Given the description of an element on the screen output the (x, y) to click on. 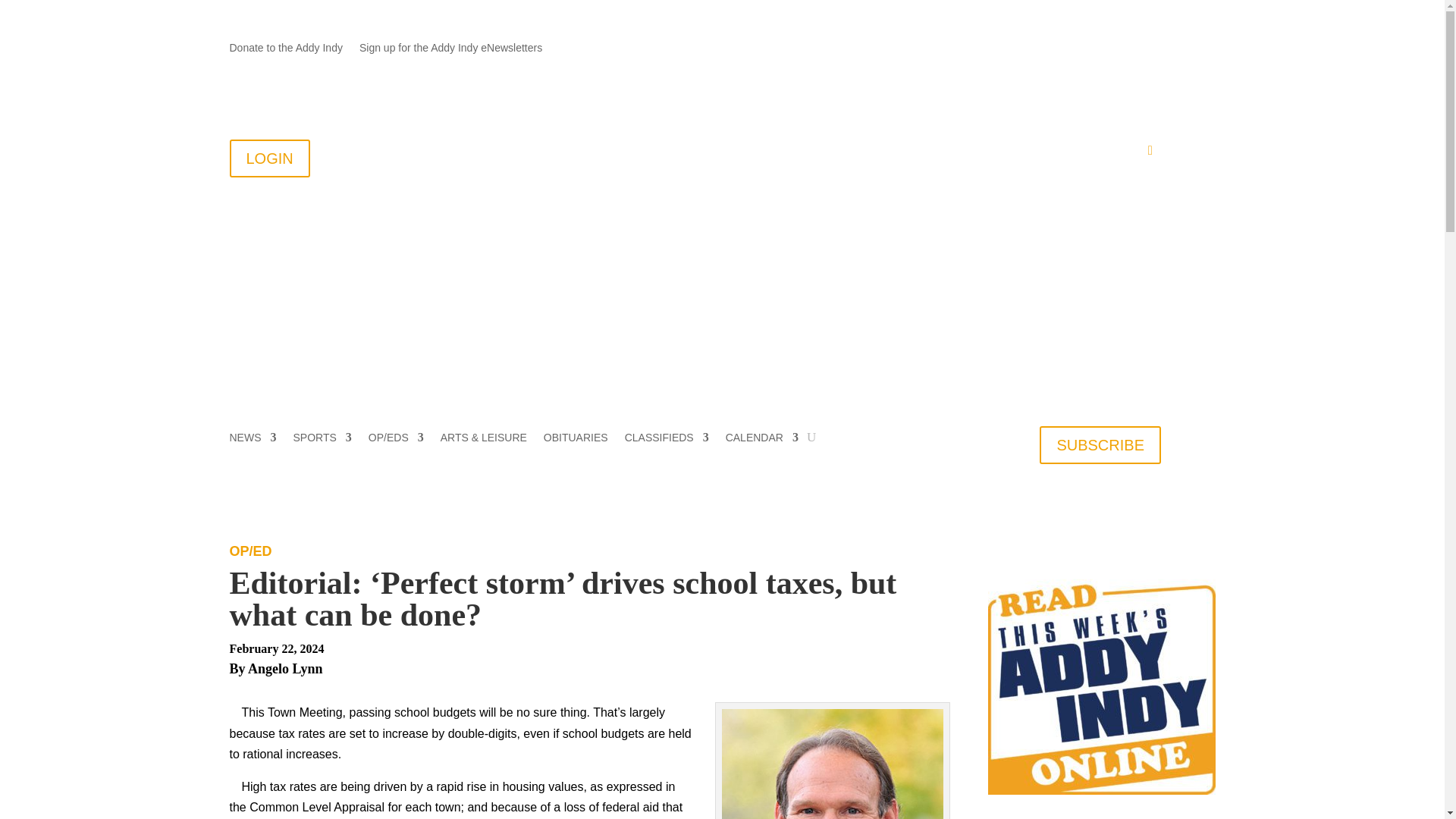
Follow on X (1118, 48)
Follow on Instagram (1148, 48)
My Account (1111, 153)
Donate to the Addy Indy (285, 50)
Sign up for the Addy Indy eNewsletters (450, 50)
Follow on Mail (1057, 48)
addison-logo (418, 240)
About (590, 153)
Submissions (860, 153)
PDF Editions (1029, 153)
NEWS (252, 440)
Join the Addy All-Stars! (751, 153)
LOGIN (268, 158)
Follow on Facebook (1087, 48)
Contact (653, 153)
